Given the description of an element on the screen output the (x, y) to click on. 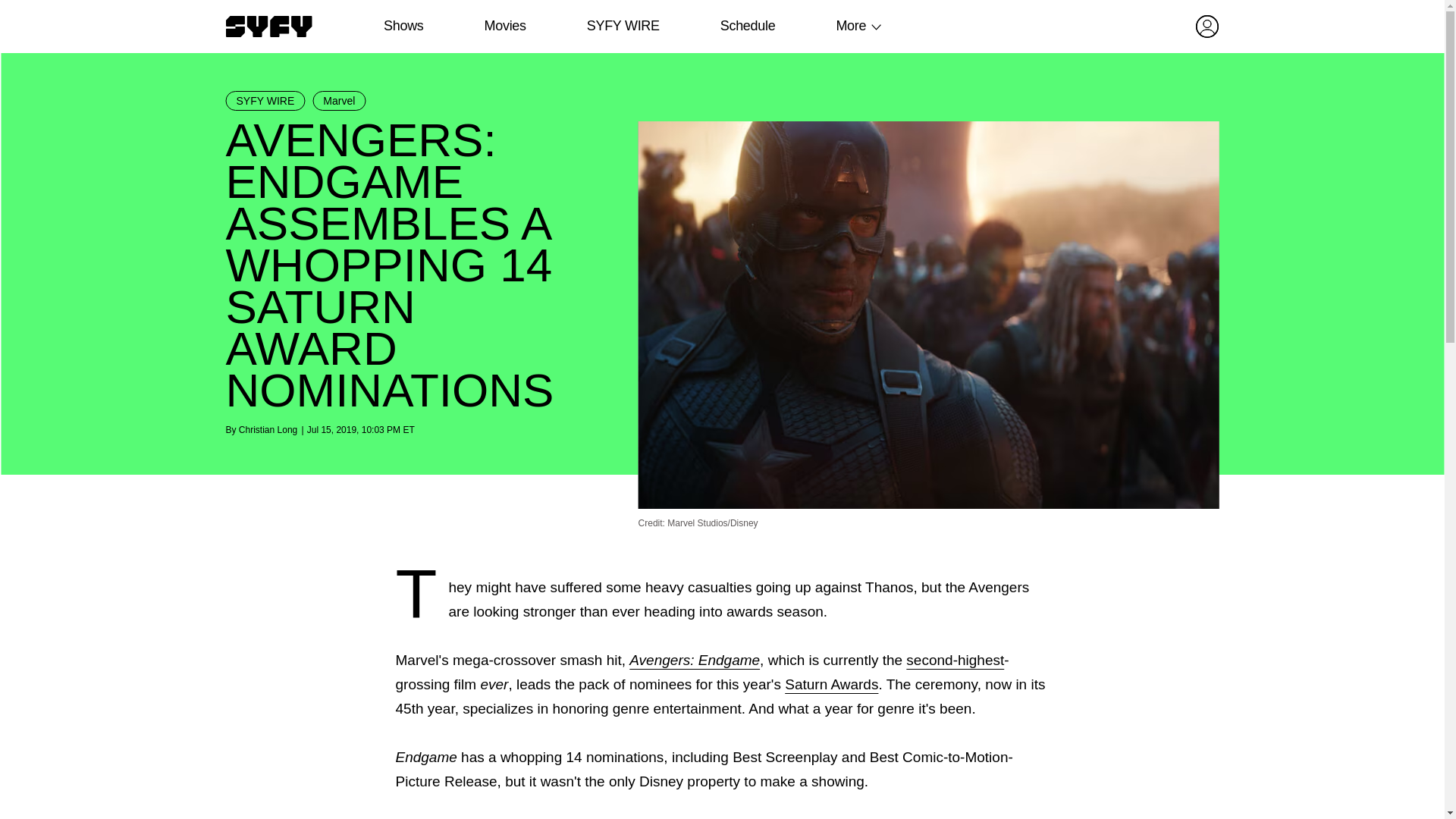
second-highest (954, 659)
Shows (403, 26)
Movies (504, 26)
Schedule (746, 26)
Avengers: Endgame (694, 659)
Marvel (339, 100)
Christian Long (267, 429)
Saturn Awards (830, 684)
SYFY WIRE (265, 100)
SYFY WIRE (622, 26)
